Given the description of an element on the screen output the (x, y) to click on. 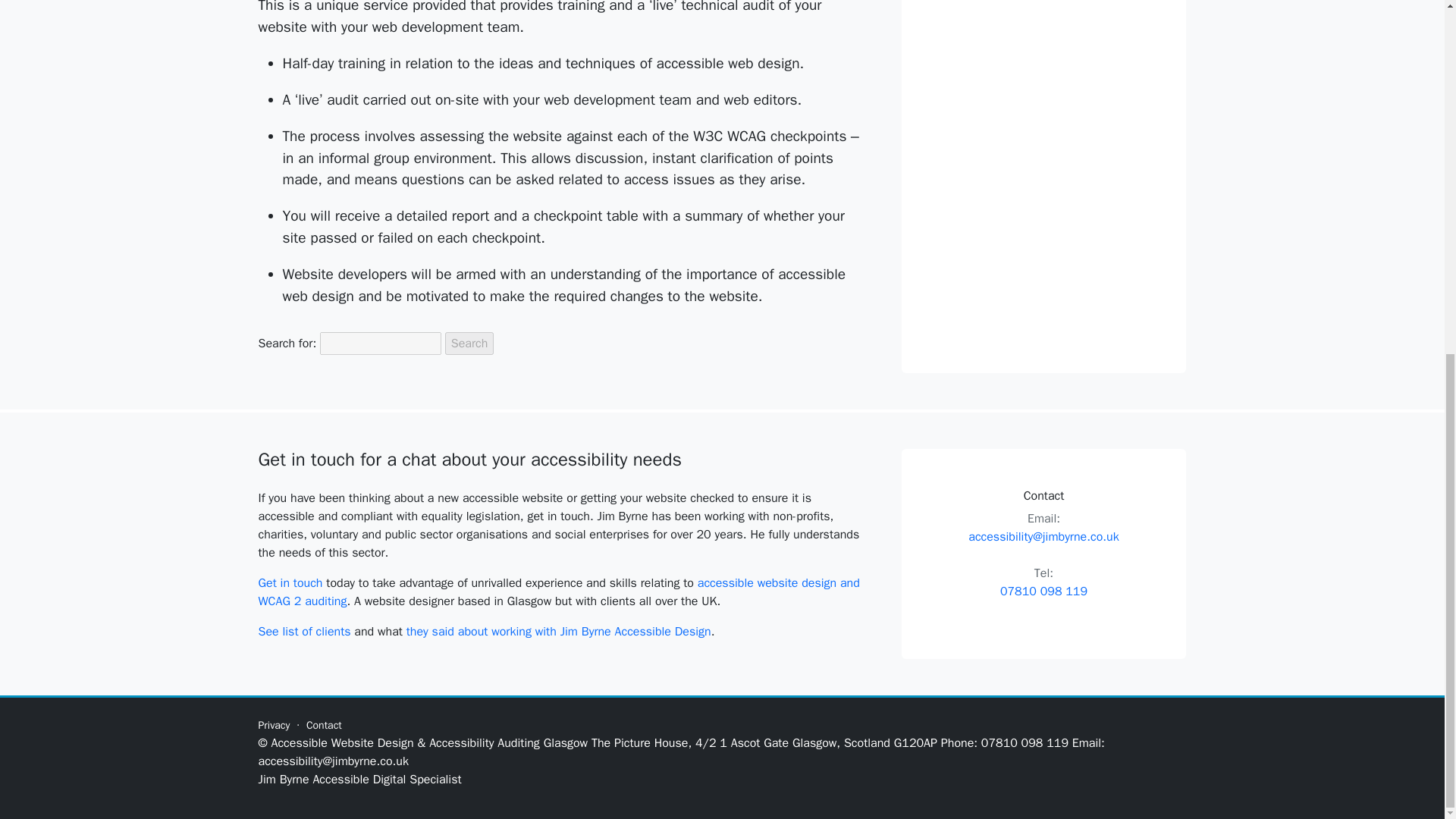
Search (470, 343)
Search (470, 343)
Contact (323, 725)
accessible website design and WCAG 2 auditing (558, 592)
Get in touch (289, 582)
they said about working with Jim Byrne Accessible Design (558, 631)
Privacy (273, 725)
See list of clients (303, 631)
07810 098 119 (1043, 590)
